Given the description of an element on the screen output the (x, y) to click on. 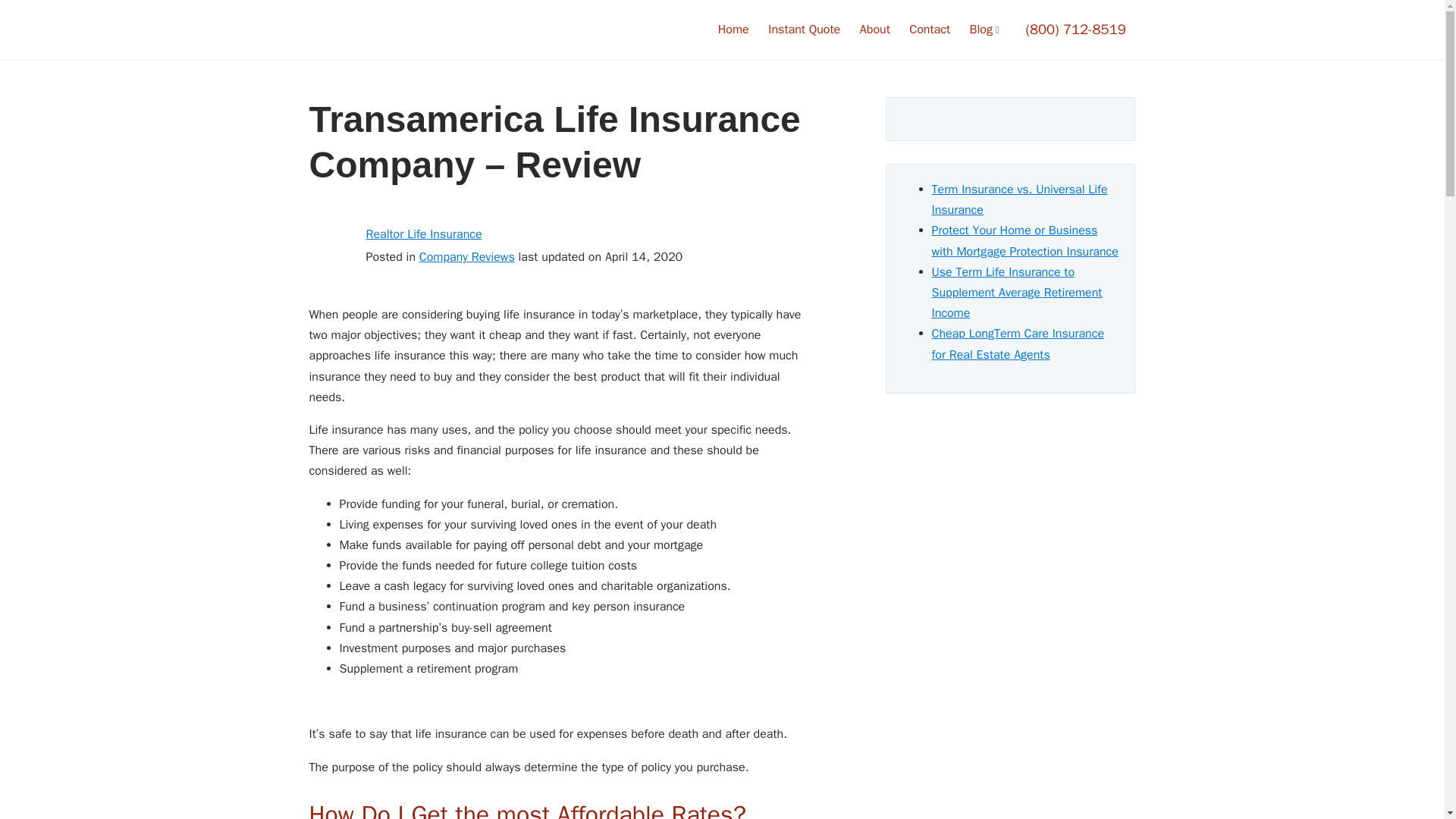
Instant Quote (804, 29)
Realtor Life Insurance (423, 233)
Company Reviews (467, 256)
About (874, 29)
Home (732, 29)
Blog (987, 29)
Contact (929, 29)
Cheap LongTerm Care Insurance for Real Estate Agents (1017, 343)
